Given the description of an element on the screen output the (x, y) to click on. 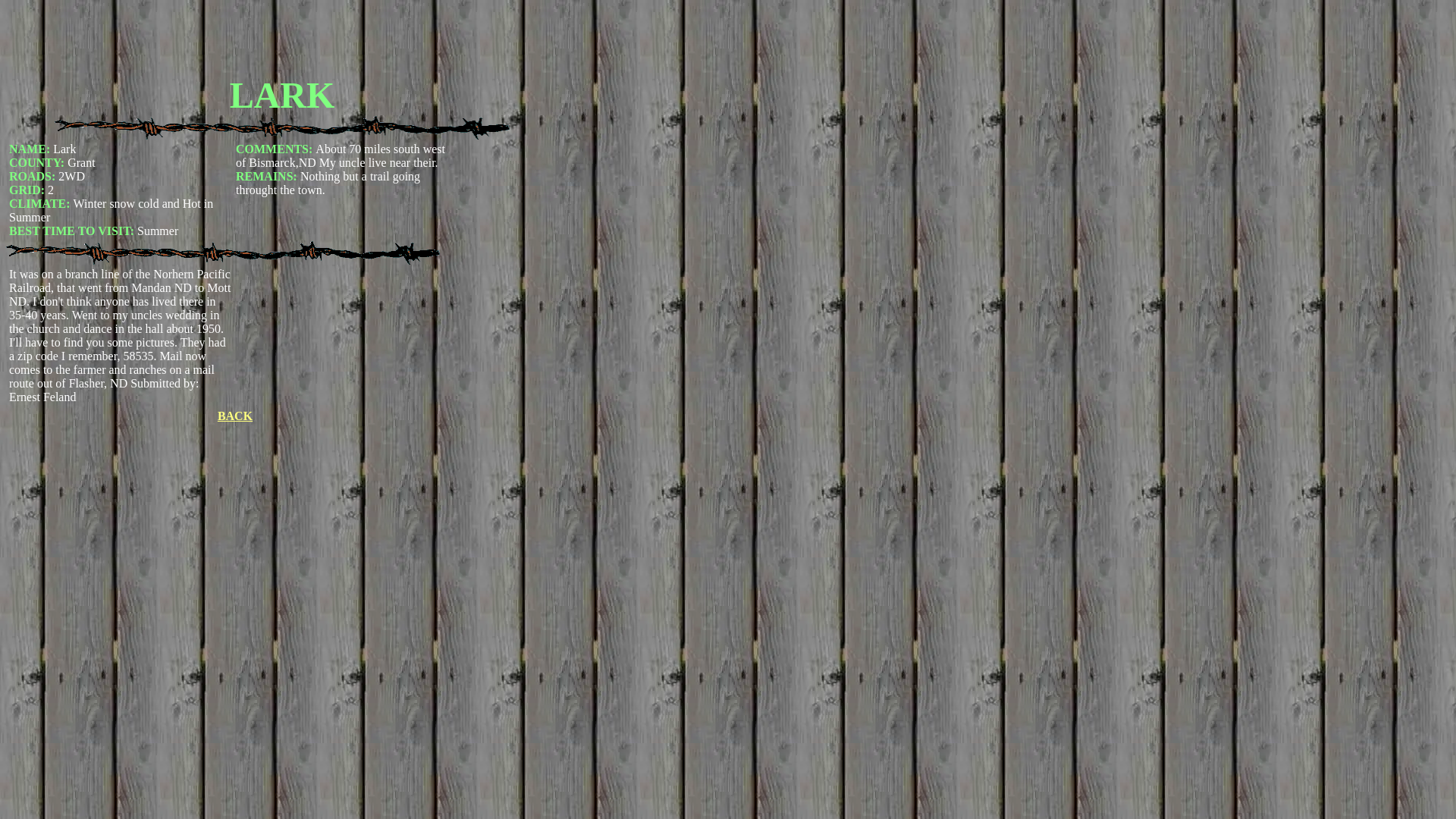
Advertisement (281, 39)
BACK (233, 415)
